Given the description of an element on the screen output the (x, y) to click on. 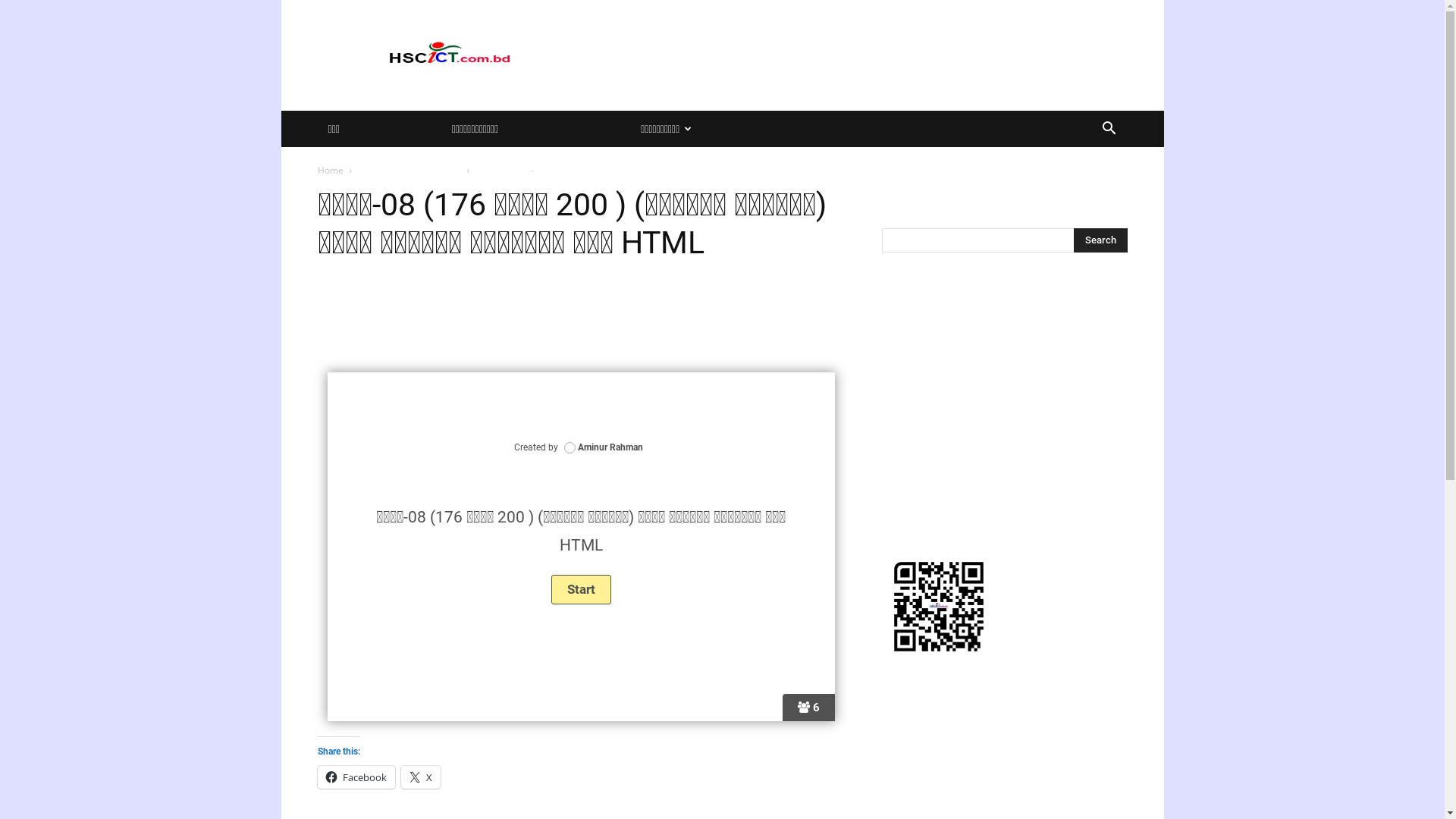
Facebook Element type: text (355, 776)
Advertisement Element type: hover (850, 55)
Advertisement Element type: hover (580, 318)
Home Element type: text (329, 169)
Search Element type: text (1085, 189)
Advertisement Element type: hover (1003, 383)
Search Element type: text (1100, 240)
X Element type: text (419, 776)
